Given the description of an element on the screen output the (x, y) to click on. 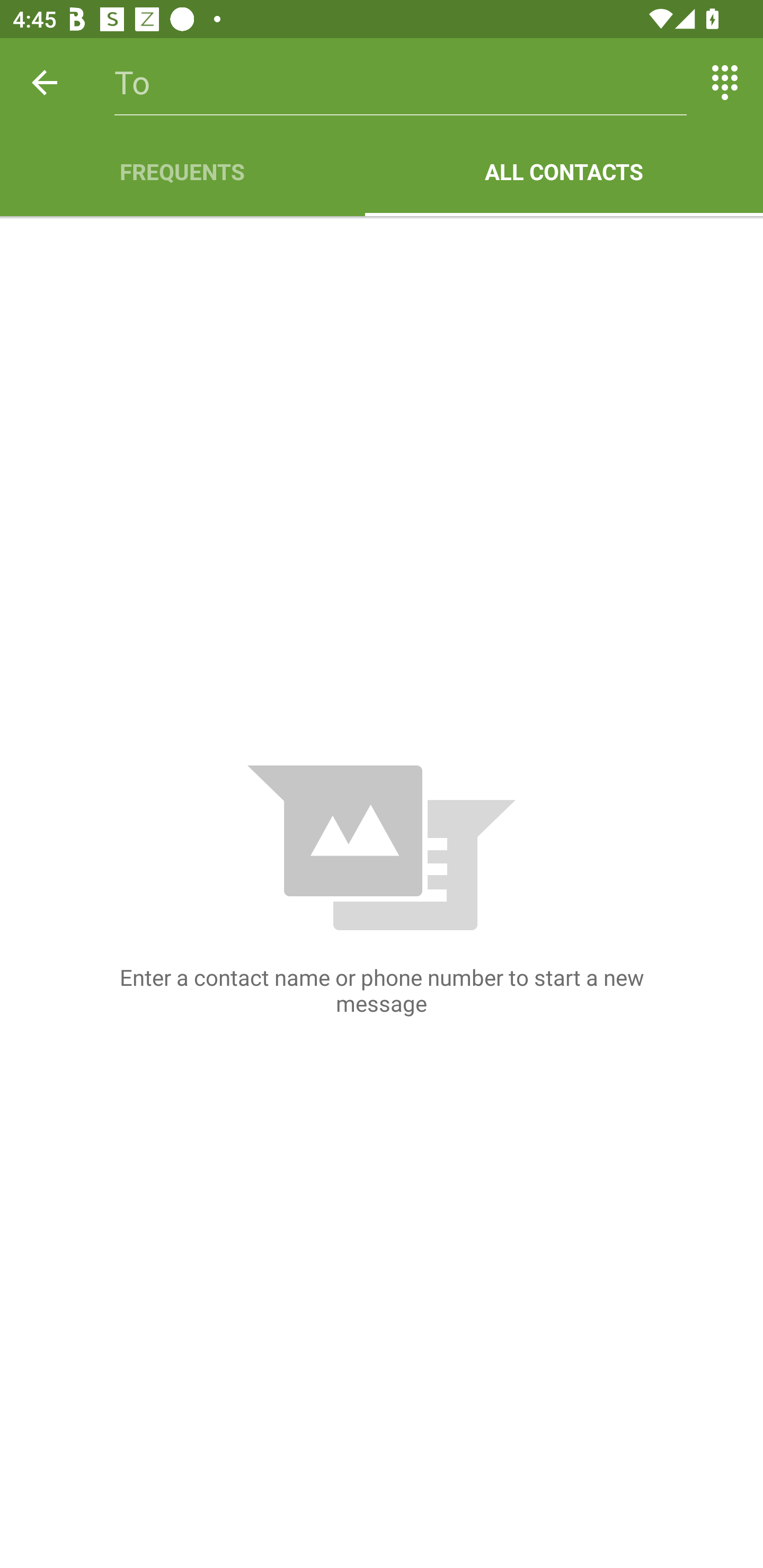
Back (44, 82)
Switch between entering text and numbers (724, 81)
To (400, 82)
FREQUENTS (182, 171)
ALL CONTACTS (563, 171)
